Given the description of an element on the screen output the (x, y) to click on. 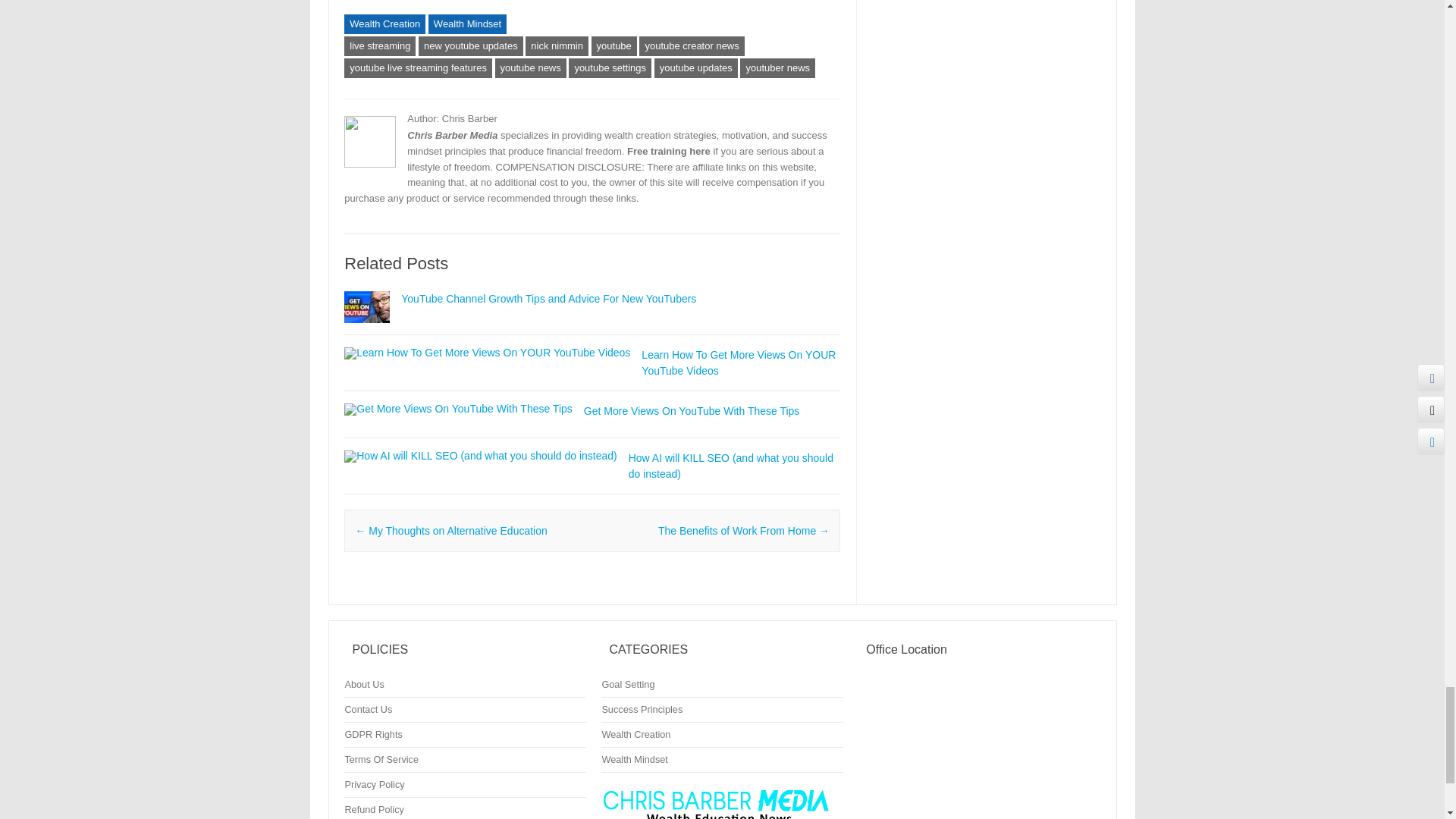
live streaming (378, 46)
Get More Views On YouTube With These Tips (457, 408)
YouTube Channel Growth Tips and Advice For New YouTubers (548, 298)
youtube news (530, 67)
YouTube Channel Growth Tips and Advice For New YouTubers (366, 329)
Learn How To Get More Views On YOUR YouTube Videos (738, 362)
new youtube updates (470, 46)
Wealth Mindset (467, 24)
youtube (614, 46)
Learn How To Get More Views On YOUR YouTube Videos (486, 352)
